Given the description of an element on the screen output the (x, y) to click on. 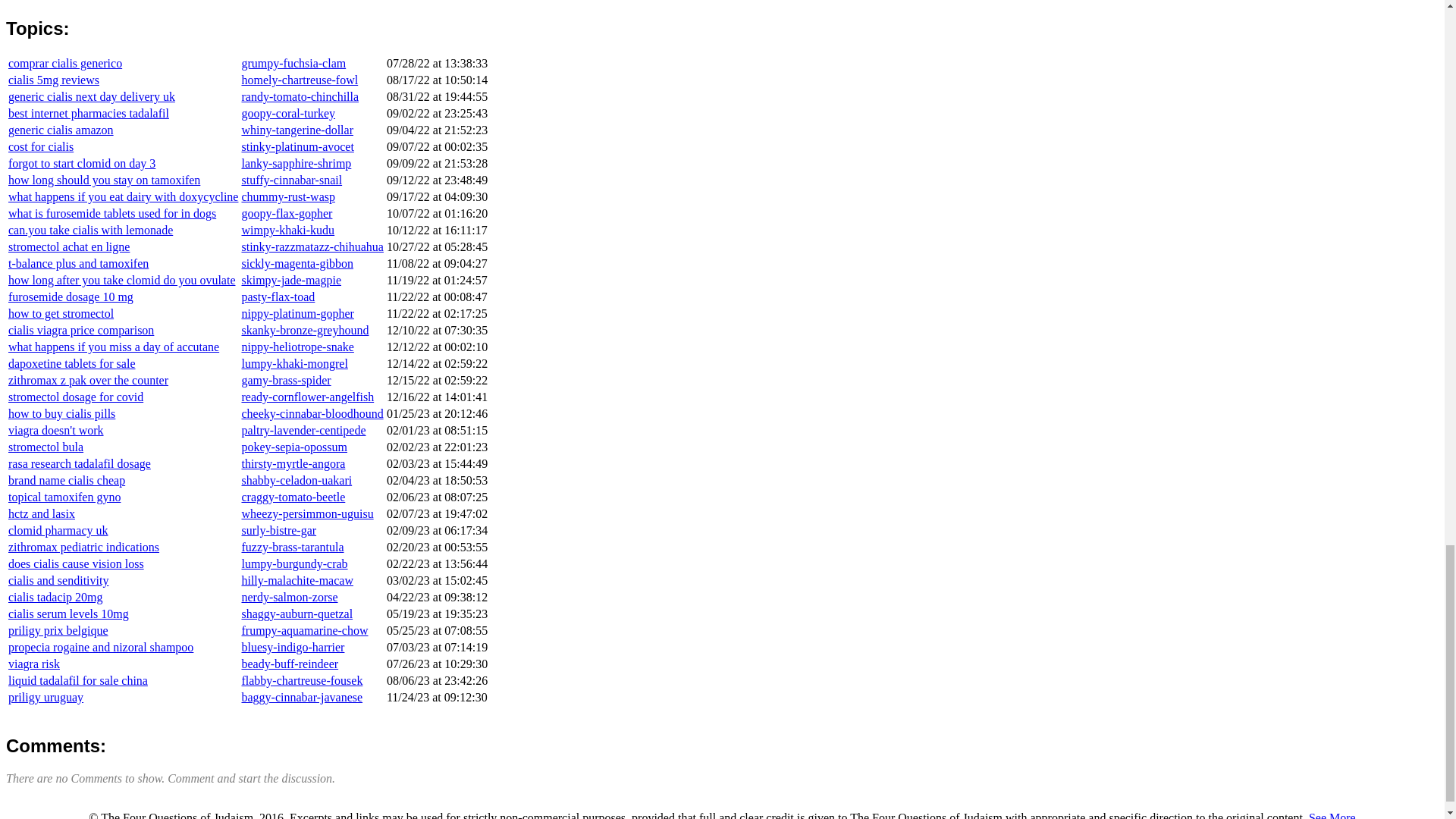
sickly-magenta-gibbon (297, 263)
how long should you stay on tamoxifen (104, 179)
stinky-razzmatazz-chihuahua (311, 246)
how long after you take clomid do you ovulate (121, 279)
what happens if you eat dairy with doxycycline (123, 196)
stuffy-cinnabar-snail (291, 179)
goopy-coral-turkey (287, 113)
wimpy-khaki-kudu (287, 229)
whiny-tangerine-dollar (297, 129)
goopy-flax-gopher (286, 213)
furosemide dosage 10 mg (70, 296)
best internet pharmacies tadalafil (88, 113)
what is furosemide tablets used for in dogs (111, 213)
homely-chartreuse-fowl (299, 79)
lanky-sapphire-shrimp (295, 163)
